Given the description of an element on the screen output the (x, y) to click on. 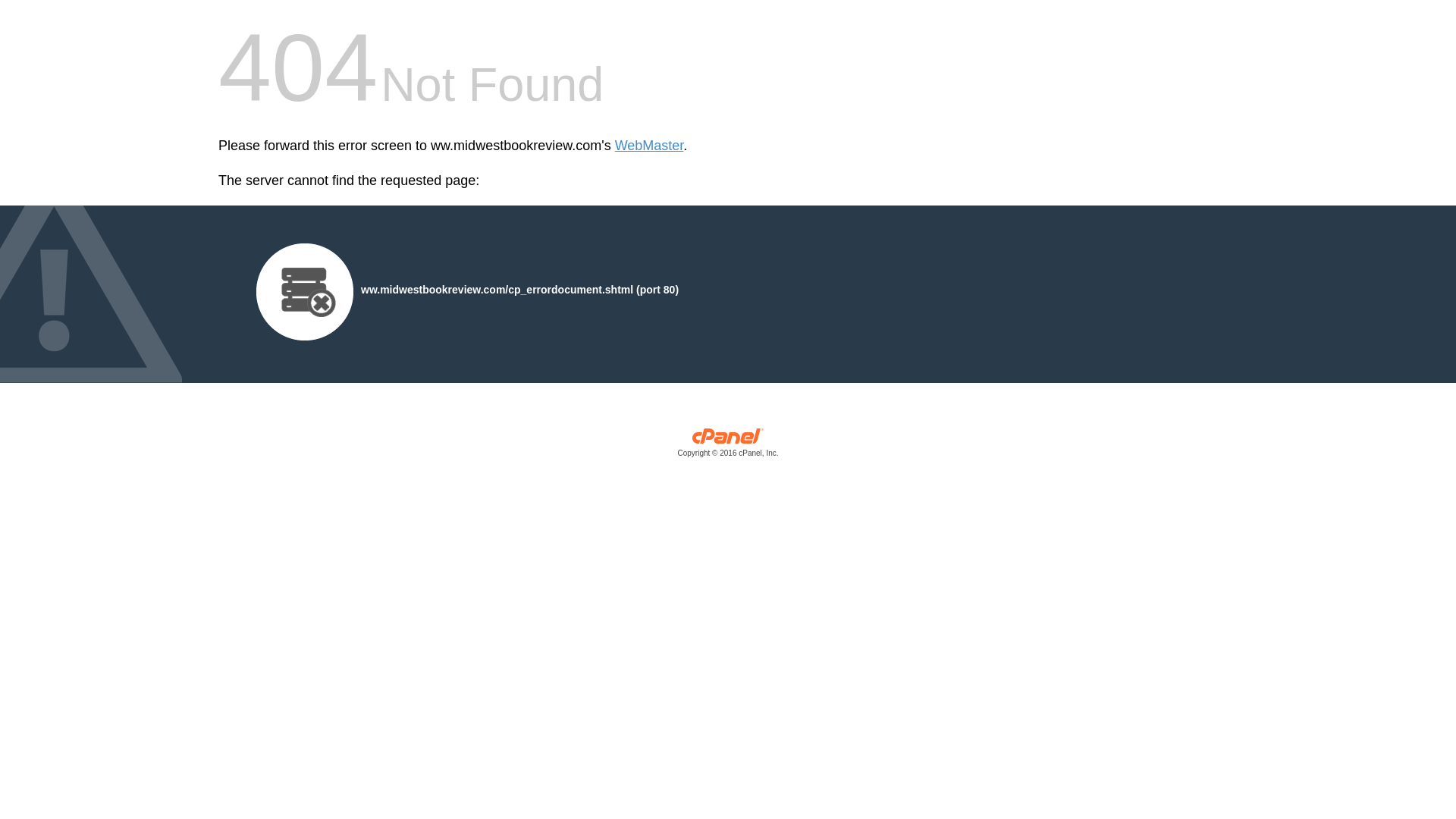
cPanel, Inc. (727, 446)
WebMaster (649, 145)
